Given the description of an element on the screen output the (x, y) to click on. 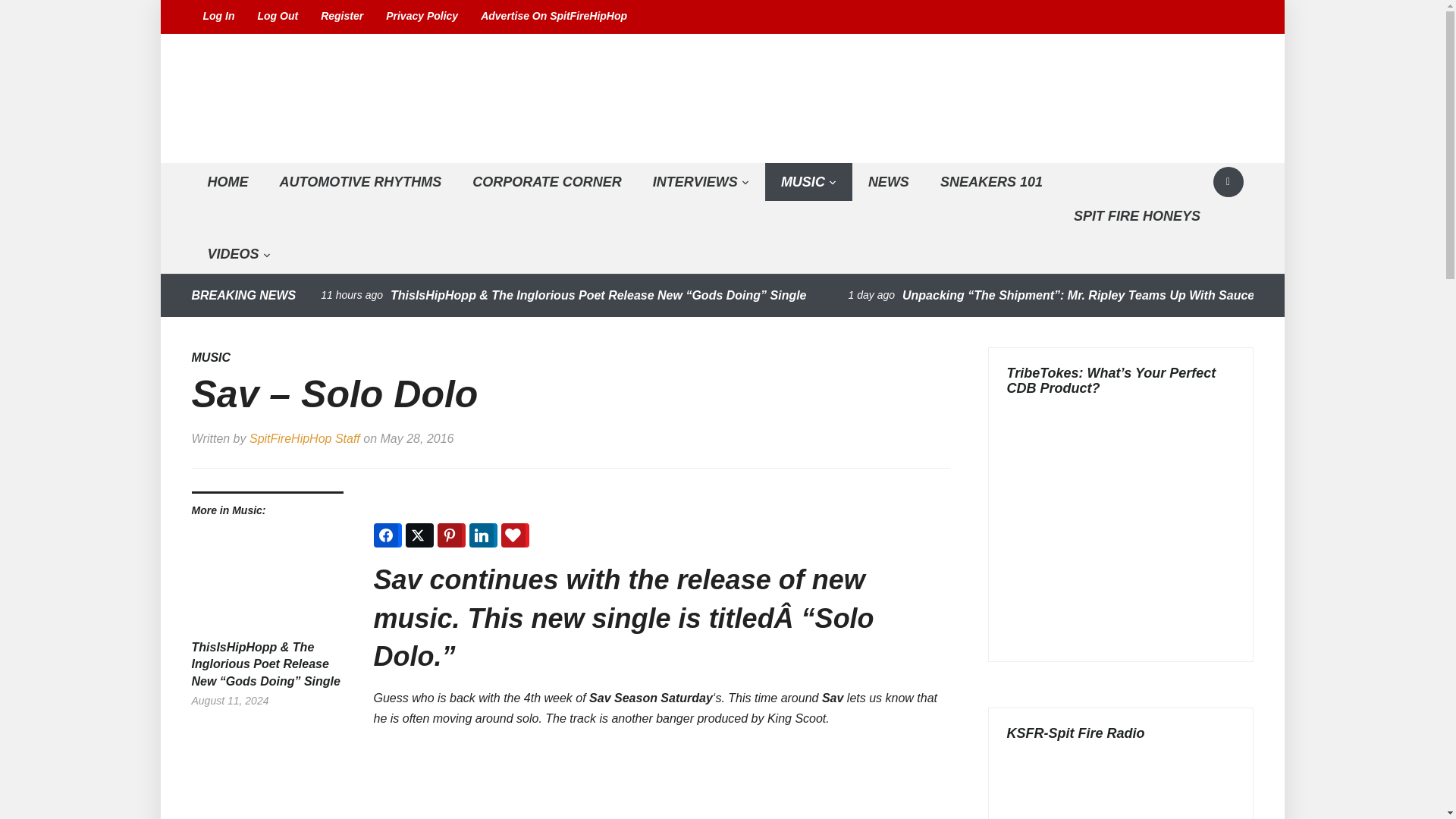
Register (341, 16)
HOME (226, 181)
Log Out (277, 16)
Privacy Policy (421, 16)
AUTOMOTIVE RHYTHMS (360, 181)
Search (1227, 182)
Advertise On SpitFireHipHop (553, 16)
CORPORATE CORNER (547, 181)
INTERVIEWS (701, 181)
Log In (218, 16)
